Given the description of an element on the screen output the (x, y) to click on. 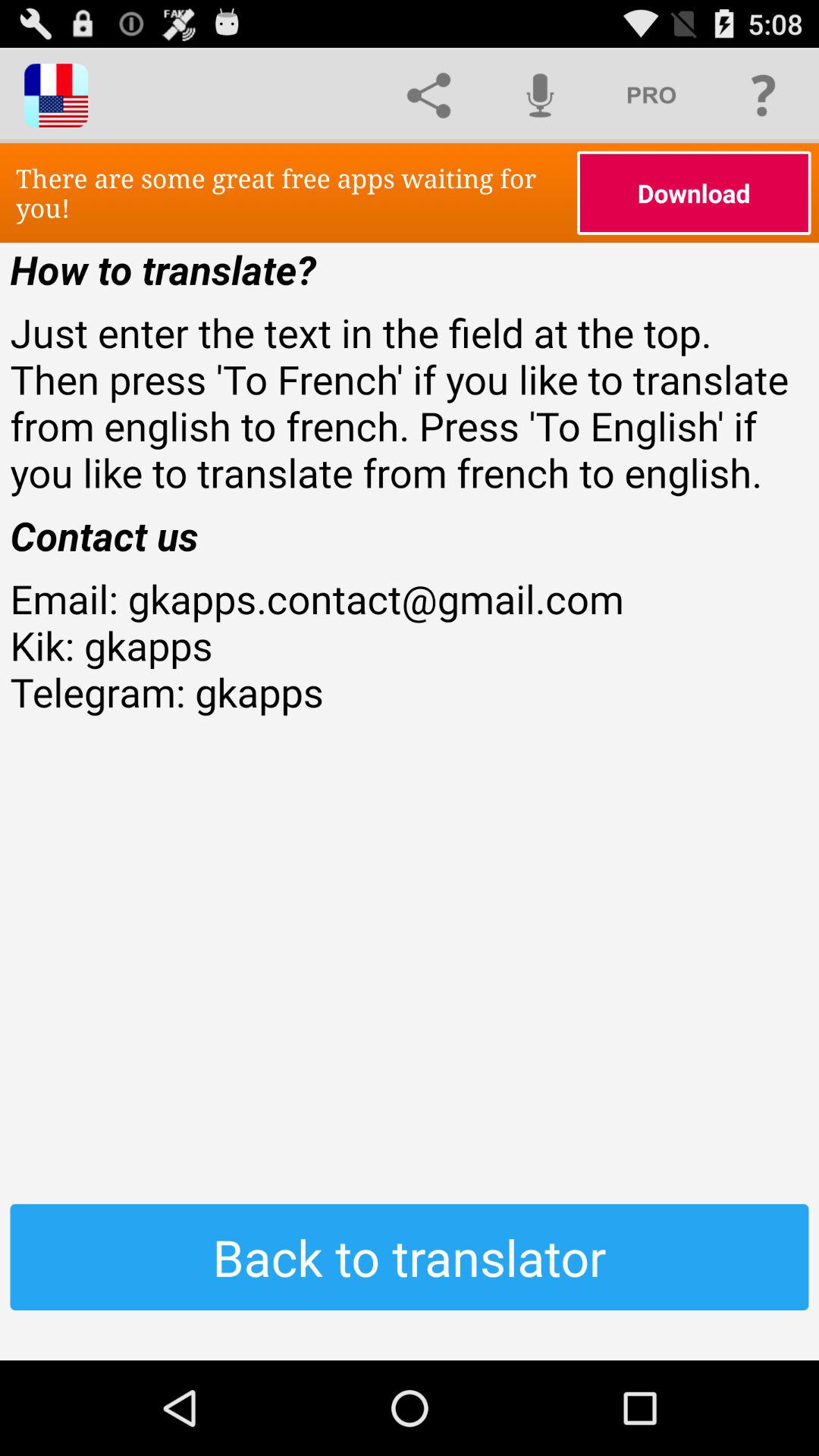
press the item below contact us (409, 691)
